Given the description of an element on the screen output the (x, y) to click on. 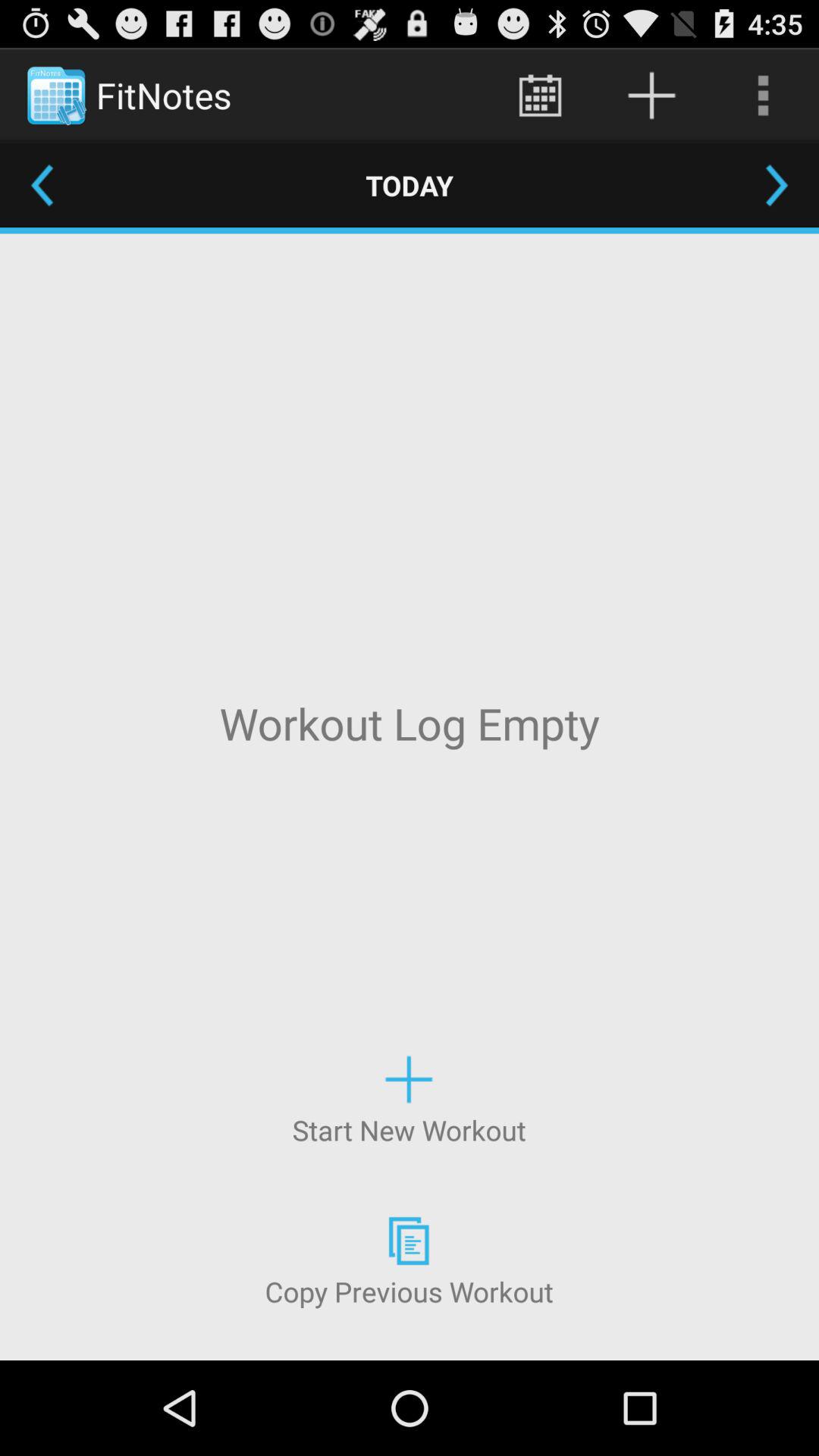
click today item (409, 185)
